Given the description of an element on the screen output the (x, y) to click on. 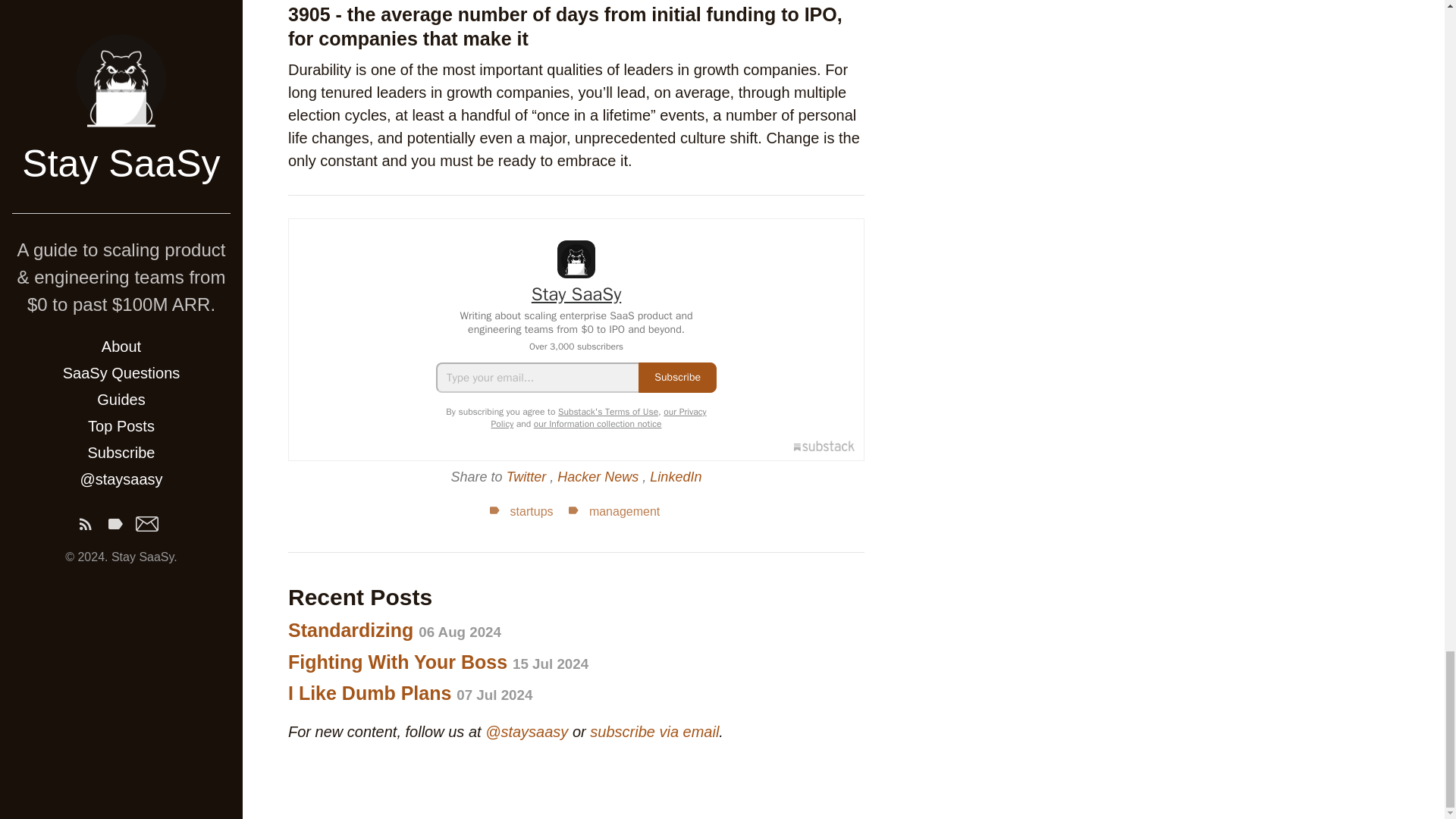
I Like Dumb Plans 07 Jul 2024 (410, 692)
subscribe via email (654, 731)
Standardizing 06 Aug 2024 (394, 629)
Twitter (528, 476)
Hacker News (599, 476)
Fighting With Your Boss 15 Jul 2024 (438, 660)
 management (611, 511)
LinkedIn (675, 476)
 startups (520, 511)
